Given the description of an element on the screen output the (x, y) to click on. 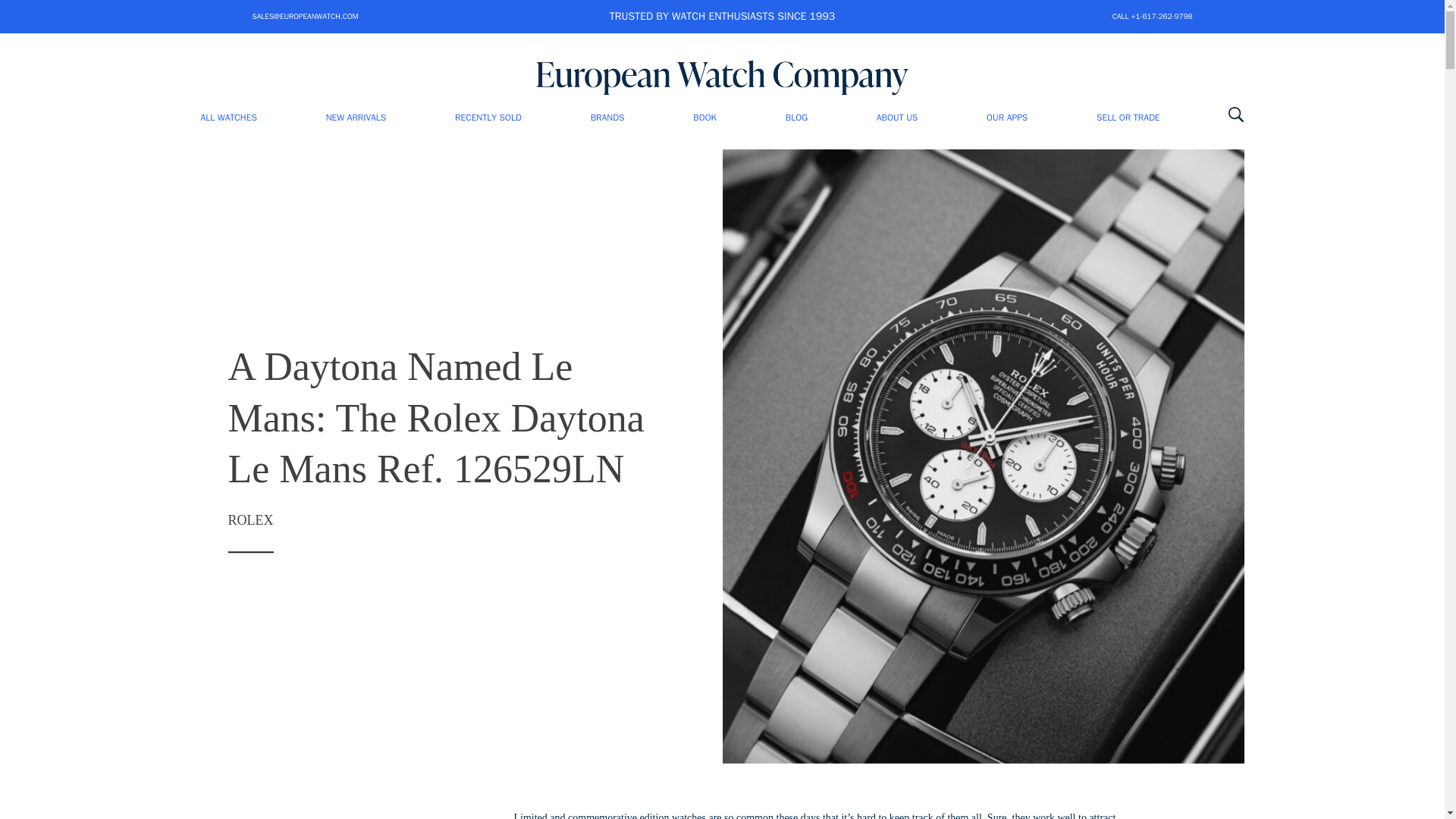
NEW ARRIVALS (356, 117)
RECENTLY SOLD (487, 117)
BRANDS (607, 117)
OUR APPS (1007, 117)
BLOG (797, 117)
ALL WATCHES (228, 117)
SELL OR TRADE (1127, 117)
ROLEX (250, 519)
BOOK (704, 117)
Our Apps (1007, 117)
ABOUT US (896, 117)
